Given the description of an element on the screen output the (x, y) to click on. 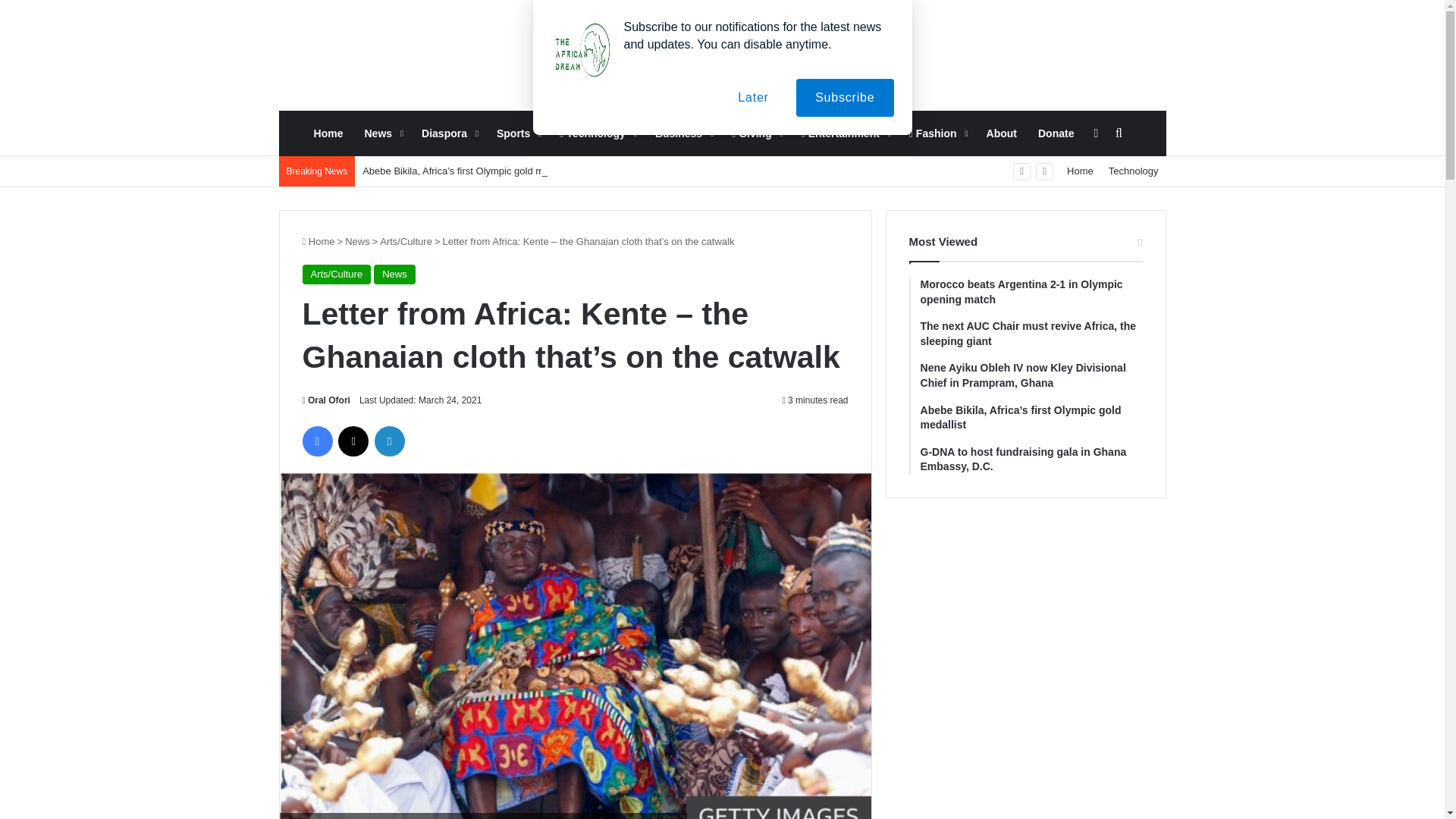
Business (682, 133)
Technology (1133, 171)
Oral Ofori (325, 399)
Home (317, 241)
LinkedIn (389, 440)
Facebook (316, 440)
X (352, 440)
Diaspora (448, 133)
Entertainment (844, 133)
Fashion (936, 133)
News (394, 274)
News (357, 241)
Home (327, 133)
About (1001, 133)
Giving (755, 133)
